Given the description of an element on the screen output the (x, y) to click on. 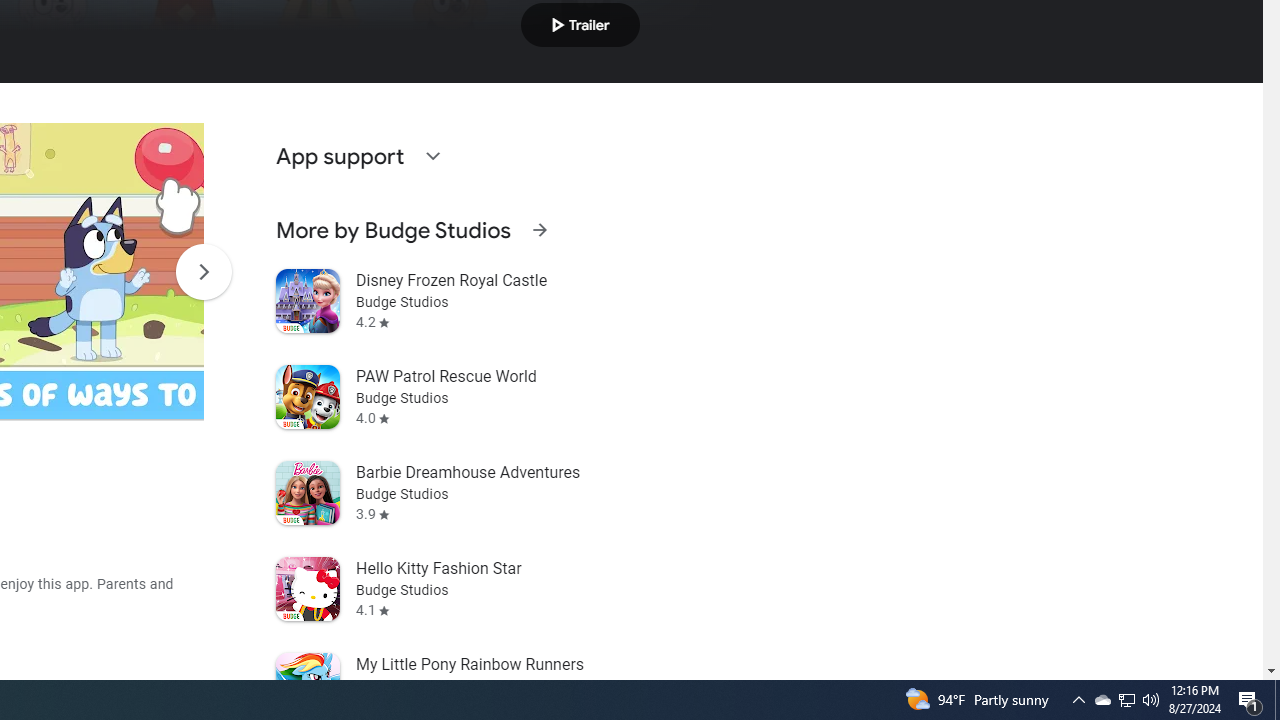
Scroll Next (203, 272)
See more information on More by Budge Studios (539, 229)
Play trailer (580, 24)
Expand (432, 155)
